Given the description of an element on the screen output the (x, y) to click on. 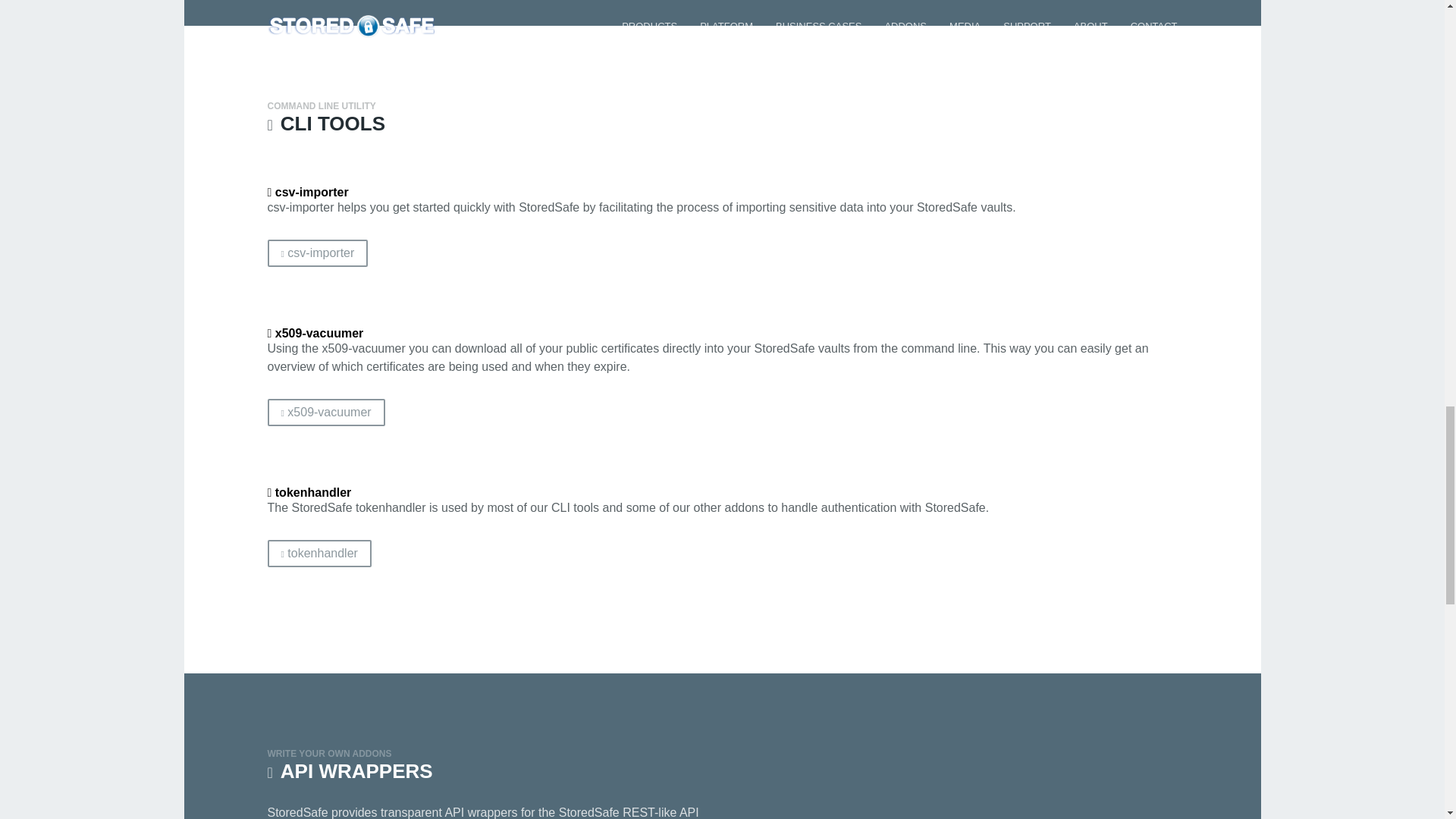
tokenhandler (318, 553)
x509-vacuumer (325, 411)
csv-importer (317, 252)
